Given the description of an element on the screen output the (x, y) to click on. 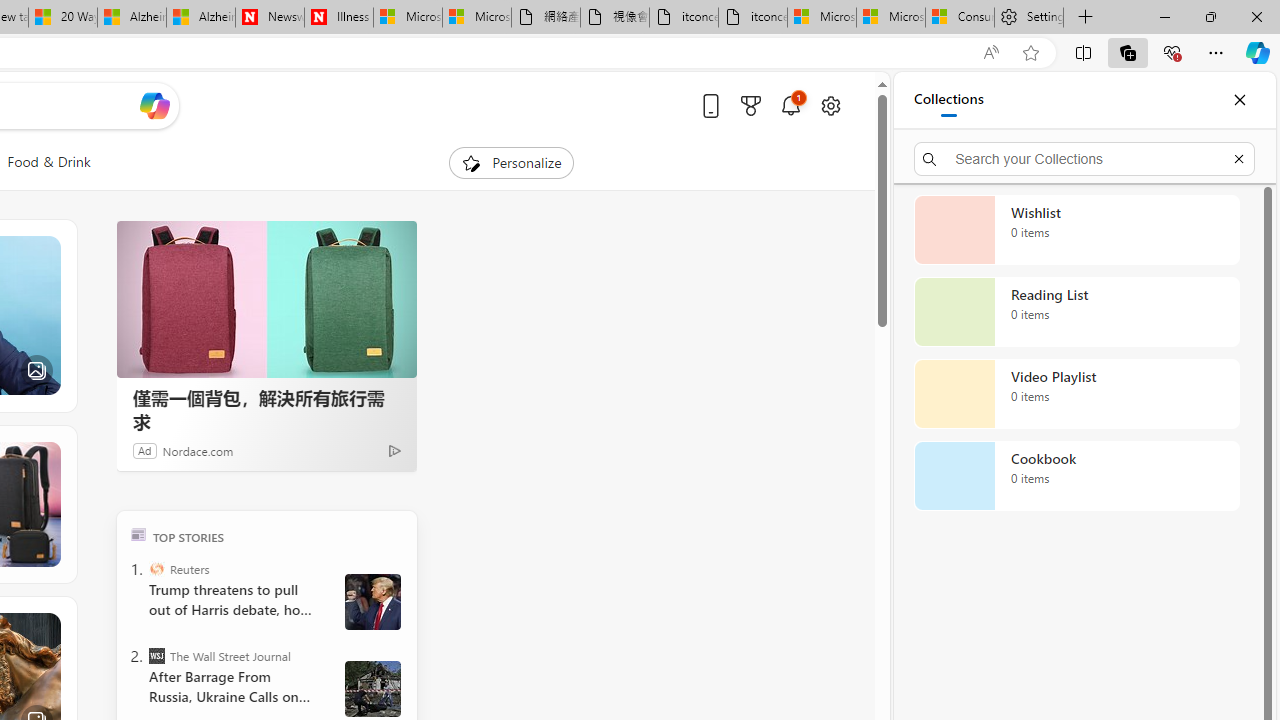
Illness news & latest pictures from Newsweek.com (338, 17)
The Wall Street Journal (156, 655)
Reuters (156, 568)
Video Playlist collection, 0 items (1076, 394)
itconcepthk.com/projector_solutions.mp4 (753, 17)
Wishlist collection, 0 items (1076, 229)
